Given the description of an element on the screen output the (x, y) to click on. 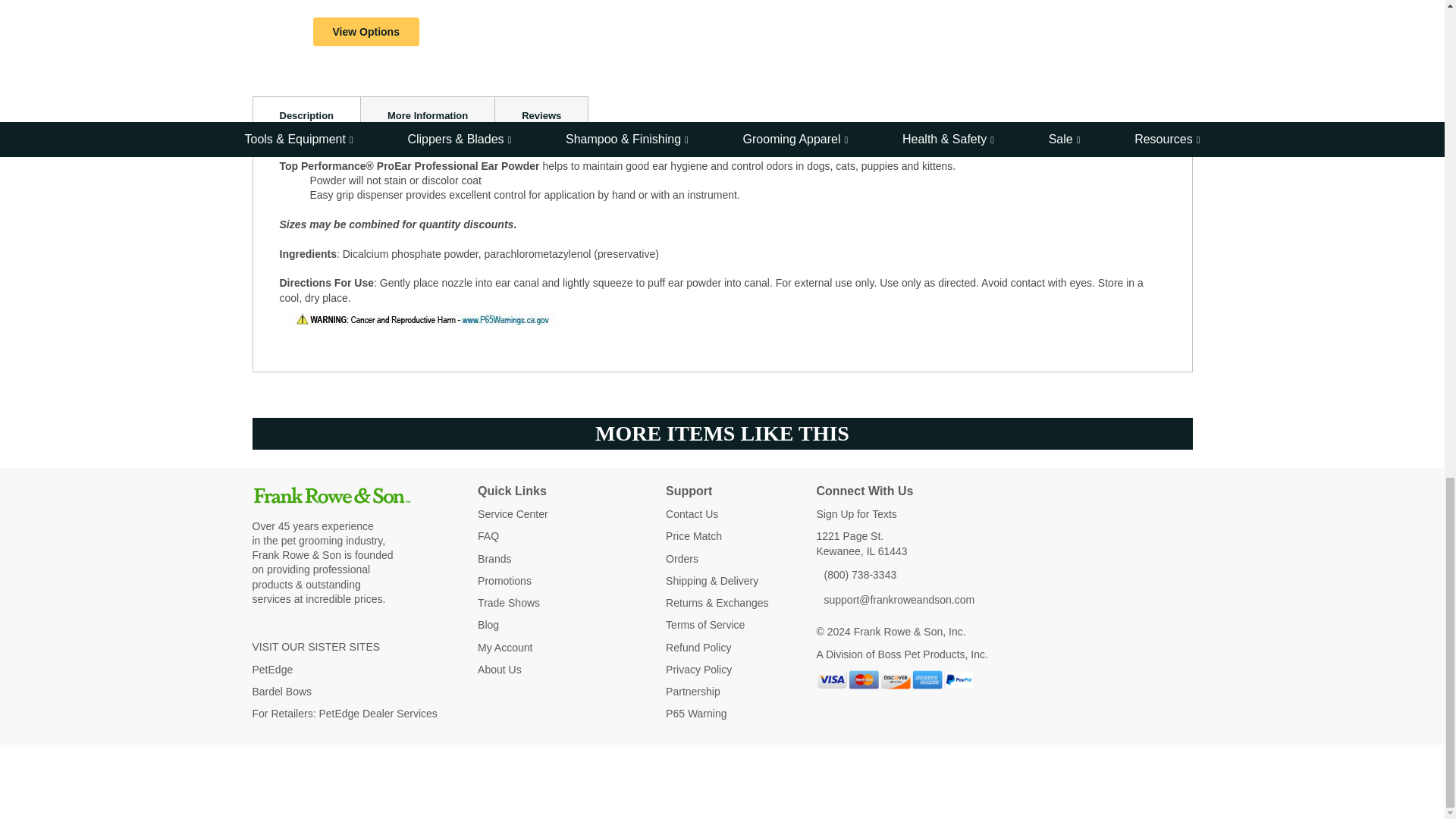
Reviews (541, 114)
Description (306, 114)
More Information (427, 114)
